Given the description of an element on the screen output the (x, y) to click on. 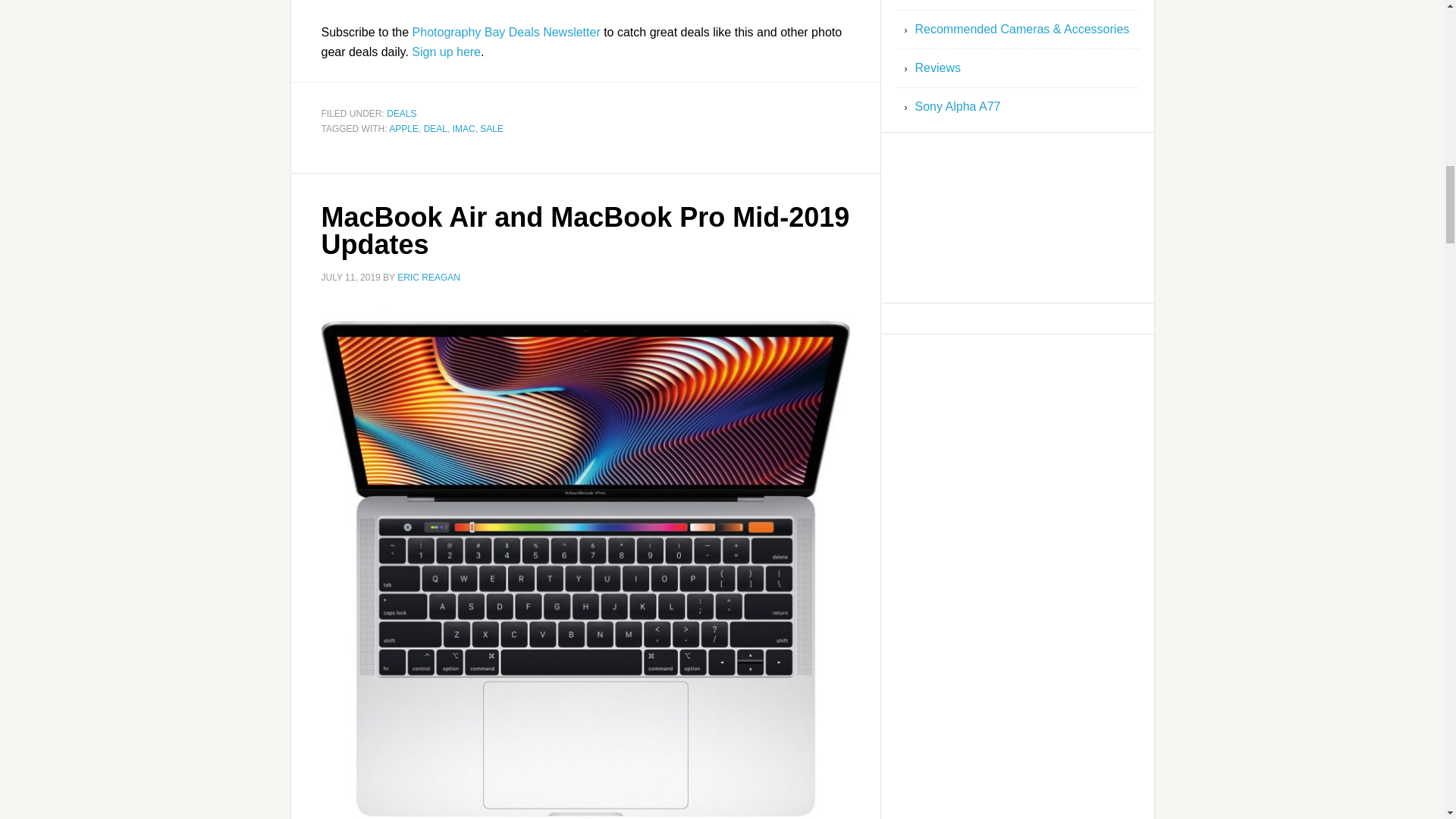
Sign up here (446, 51)
DEALS (401, 113)
DEAL (434, 128)
SALE (491, 128)
IMAC (464, 128)
Photography Bay Deals Newsletter (505, 31)
APPLE (403, 128)
ERIC REAGAN (428, 276)
MacBook Air and MacBook Pro Mid-2019 Updates (585, 230)
